Given the description of an element on the screen output the (x, y) to click on. 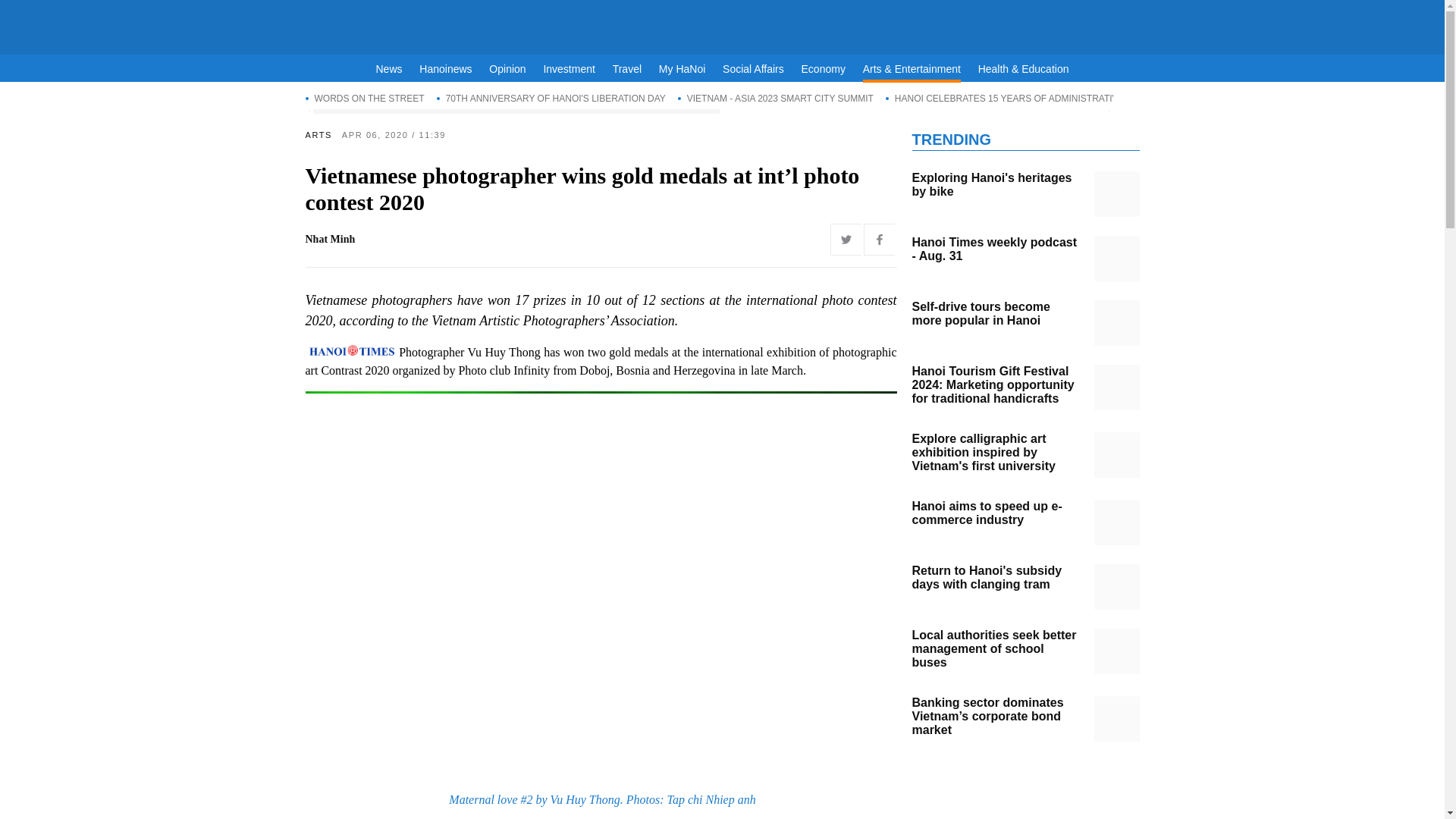
Social Affairs (753, 69)
Hanoi Times (721, 24)
Hanoinews (445, 69)
WORDS ON THE STREET (363, 98)
Investment (568, 69)
Hanoi aims to speed up e-commerce industry (1115, 522)
News (389, 69)
